Given the description of an element on the screen output the (x, y) to click on. 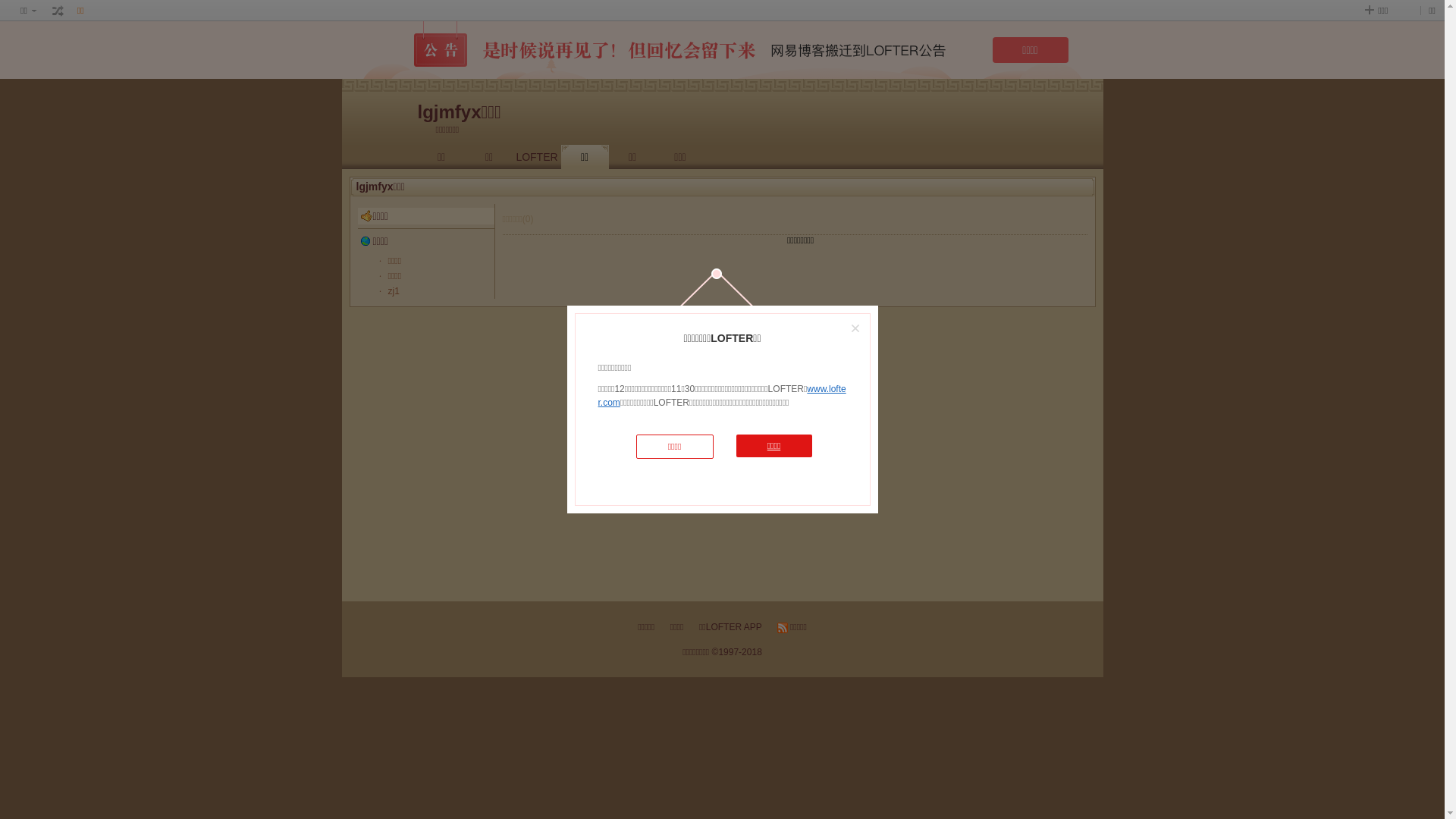
  Element type: text (58, 10)
www.lofter.com Element type: text (721, 395)
LOFTER Element type: text (536, 156)
